Given the description of an element on the screen output the (x, y) to click on. 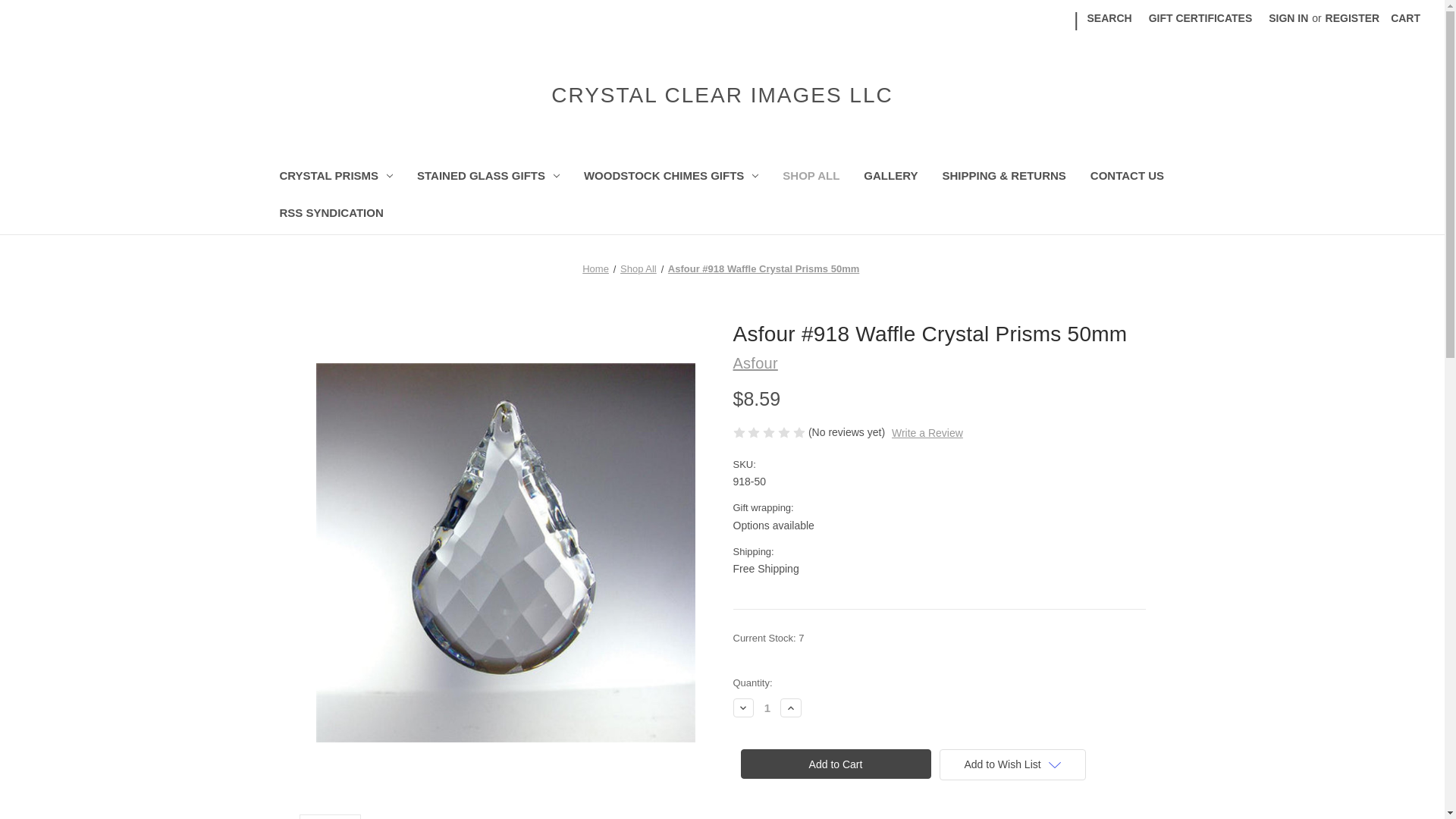
CONTACT US (1127, 177)
CRYSTAL CLEAR IMAGES LLC (722, 95)
GALLERY (890, 177)
CART (1404, 18)
Write a Review (926, 433)
SEARCH (1109, 18)
Add to Cart (834, 764)
SHOP ALL (810, 177)
Home (595, 268)
STAINED GLASS GIFTS (488, 177)
REGISTER (1353, 18)
Asfour (754, 362)
GIFT CERTIFICATES (1200, 18)
CRYSTAL PRISMS (335, 177)
Shop All (638, 268)
